Given the description of an element on the screen output the (x, y) to click on. 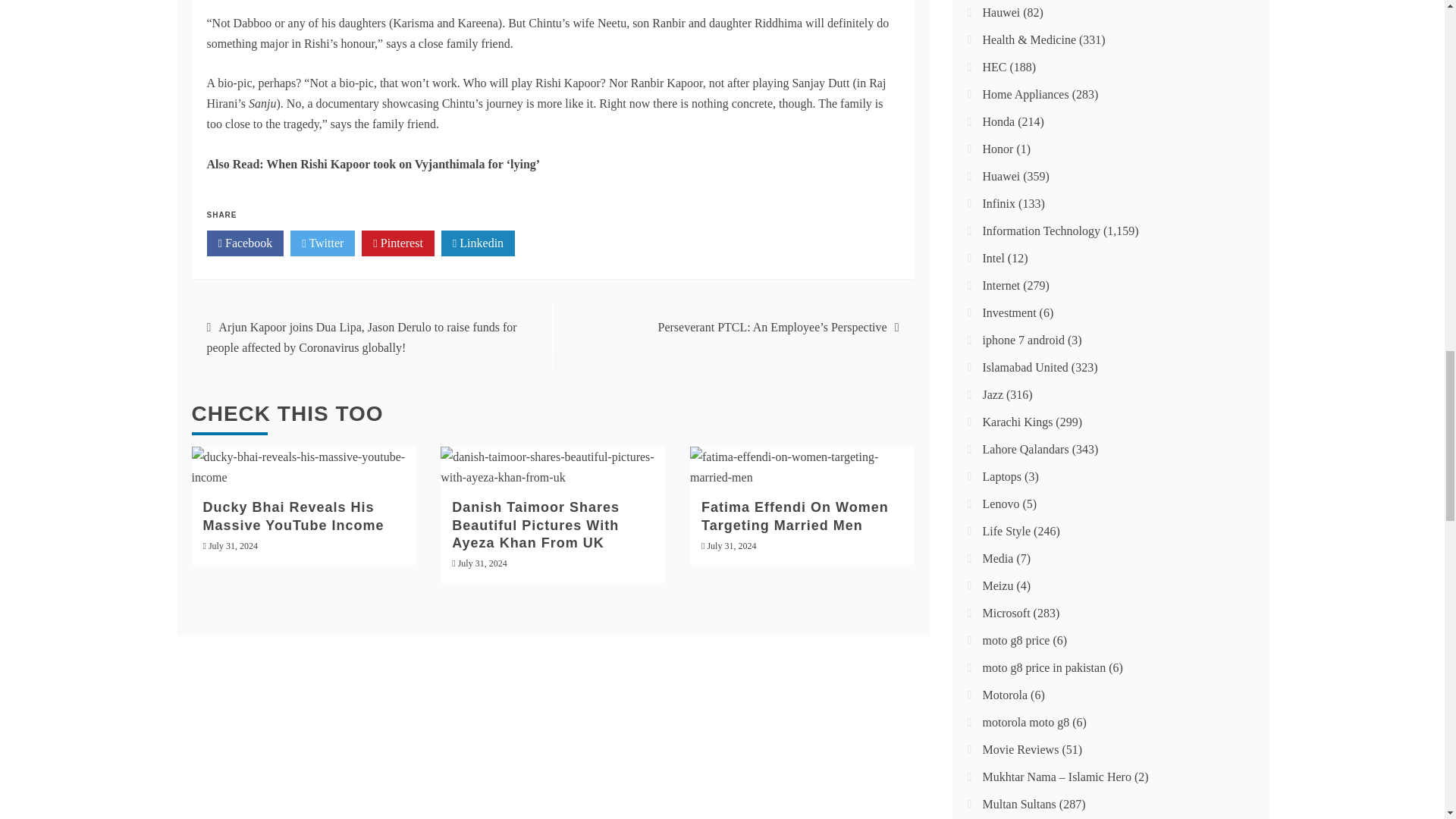
Linkedin (478, 243)
Pinterest (397, 243)
Ducky Bhai Reveals His Massive YouTube Income (293, 515)
July 31, 2024 (482, 562)
Facebook (244, 243)
July 31, 2024 (232, 545)
Twitter (322, 243)
Fatima Effendi On Women Targeting Married Men (794, 515)
July 31, 2024 (730, 545)
